Given the description of an element on the screen output the (x, y) to click on. 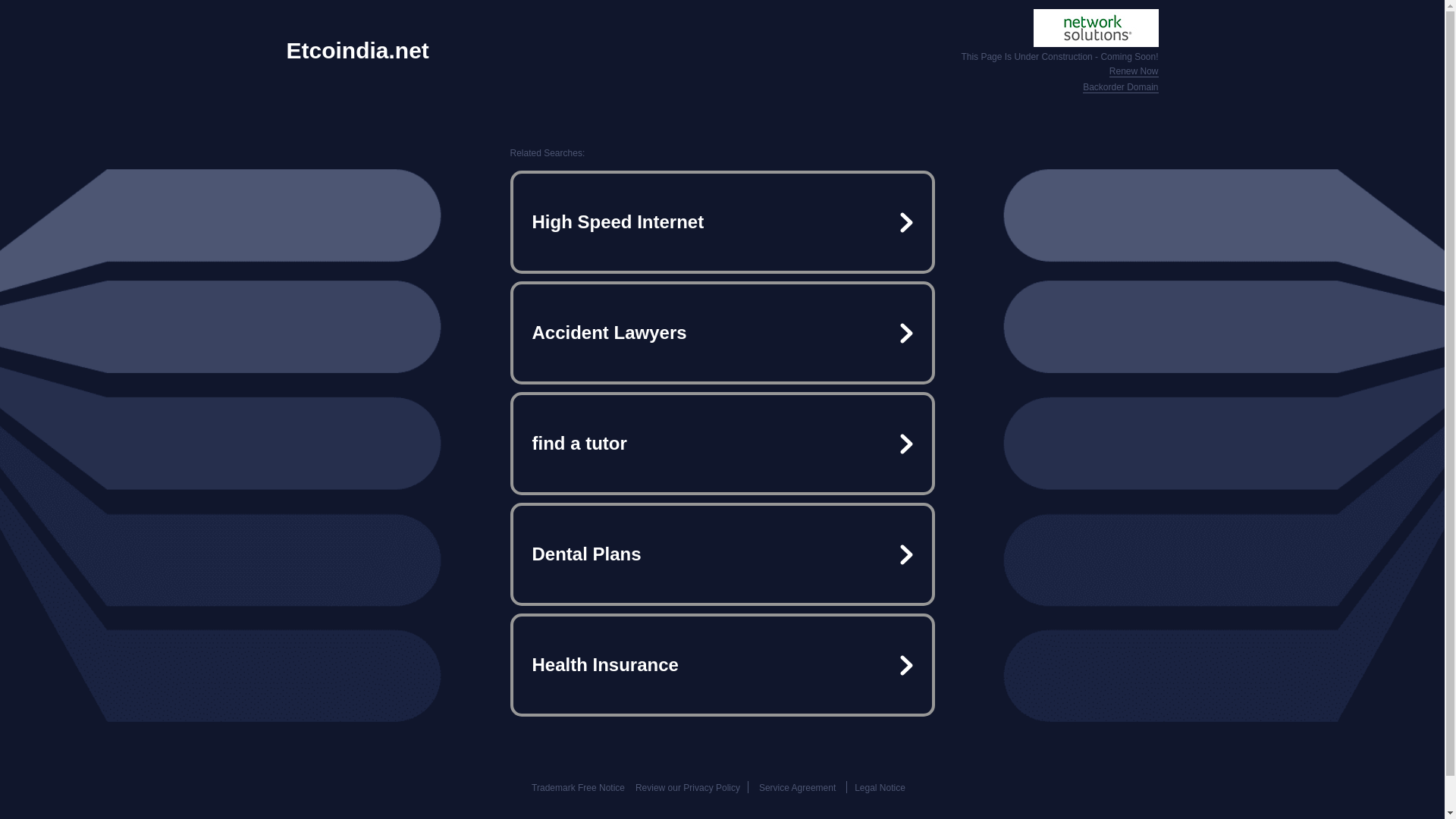
Health Insurance (721, 664)
Renew Now (1133, 71)
Accident Lawyers (721, 332)
High Speed Internet (721, 222)
Etcoindia.net (357, 50)
Trademark Free Notice (577, 787)
High Speed Internet (721, 222)
Accident Lawyers (721, 332)
Service Agreement (796, 787)
Dental Plans (721, 554)
Dental Plans (721, 554)
find a tutor (721, 443)
find a tutor (721, 443)
Backorder Domain (1120, 87)
Legal Notice (879, 787)
